Given the description of an element on the screen output the (x, y) to click on. 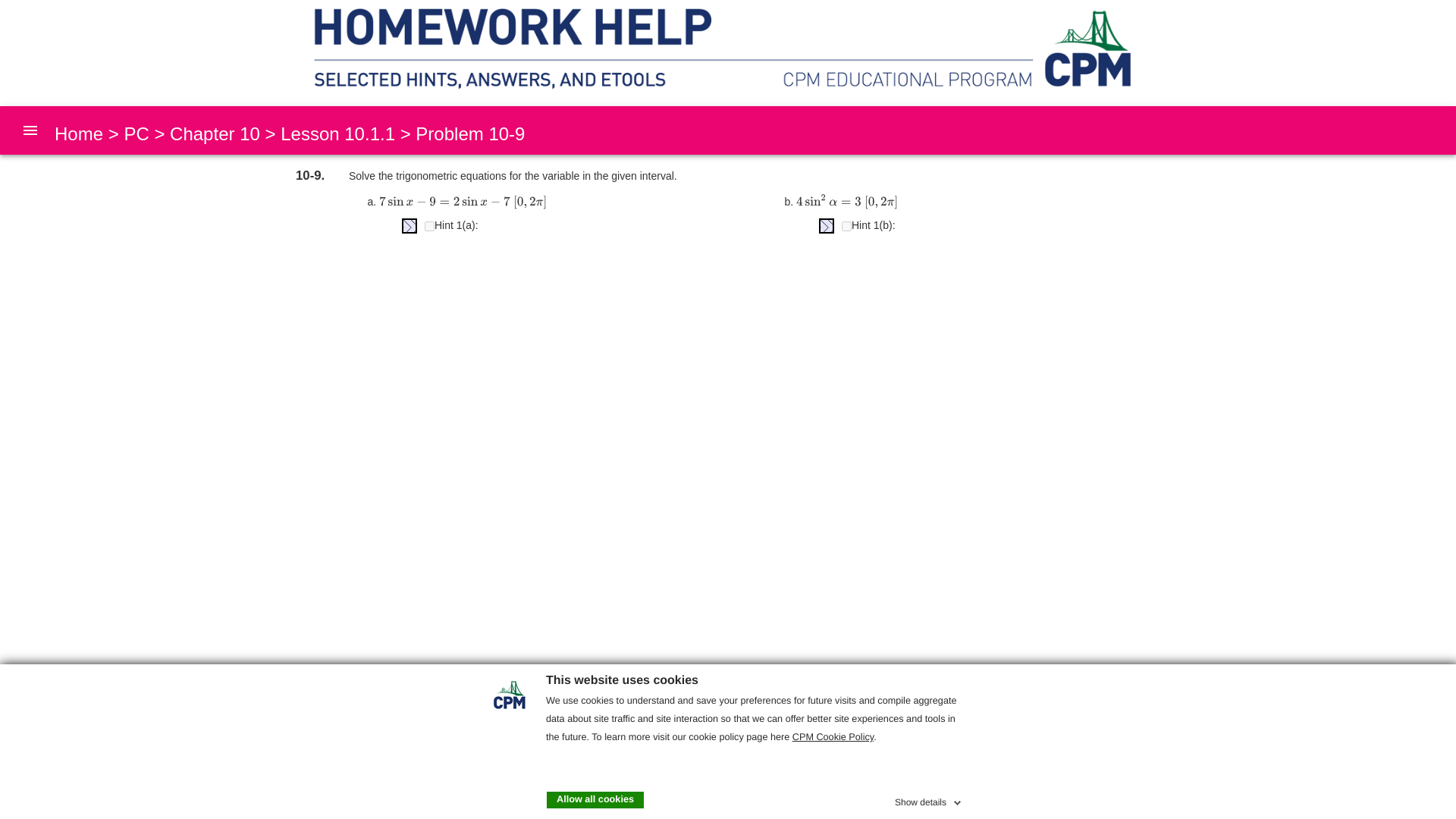
on (846, 225)
Show details (929, 799)
Allow all cookies (595, 799)
on (429, 225)
CPM Cookie Policy (832, 737)
